Given the description of an element on the screen output the (x, y) to click on. 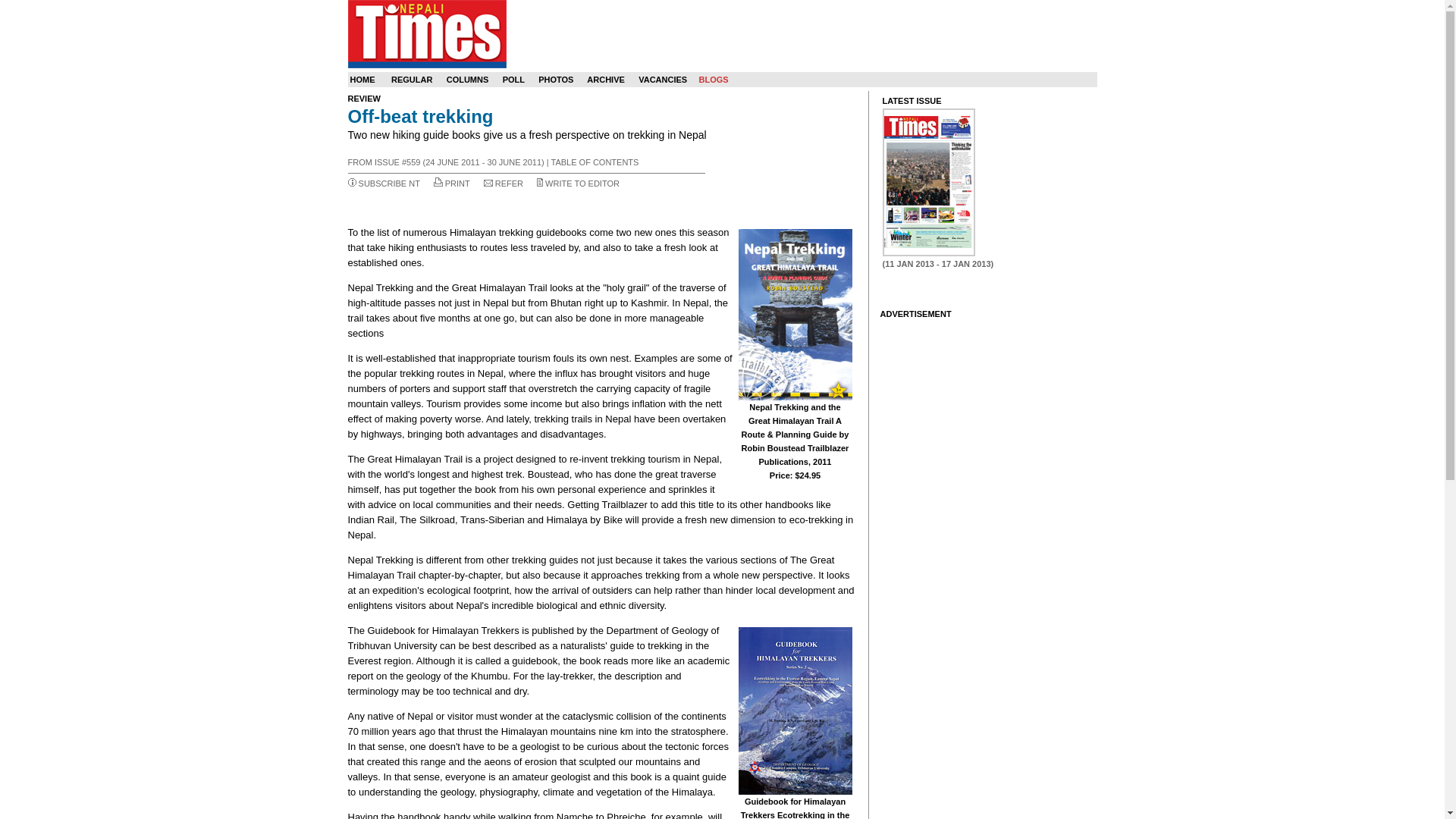
BLOGS (713, 79)
POLL (513, 79)
REFER (508, 183)
PRINT (458, 183)
ARCHIVE (605, 79)
PHOTOS (555, 79)
Nepali Times (426, 33)
TABLE OF CONTENTS (594, 162)
COLUMNS (467, 79)
WRITE TO EDITOR (582, 183)
VACANCIES (663, 79)
HOME (362, 79)
REGULAR (411, 79)
SUBSCRIBE NT (389, 183)
